Given the description of an element on the screen output the (x, y) to click on. 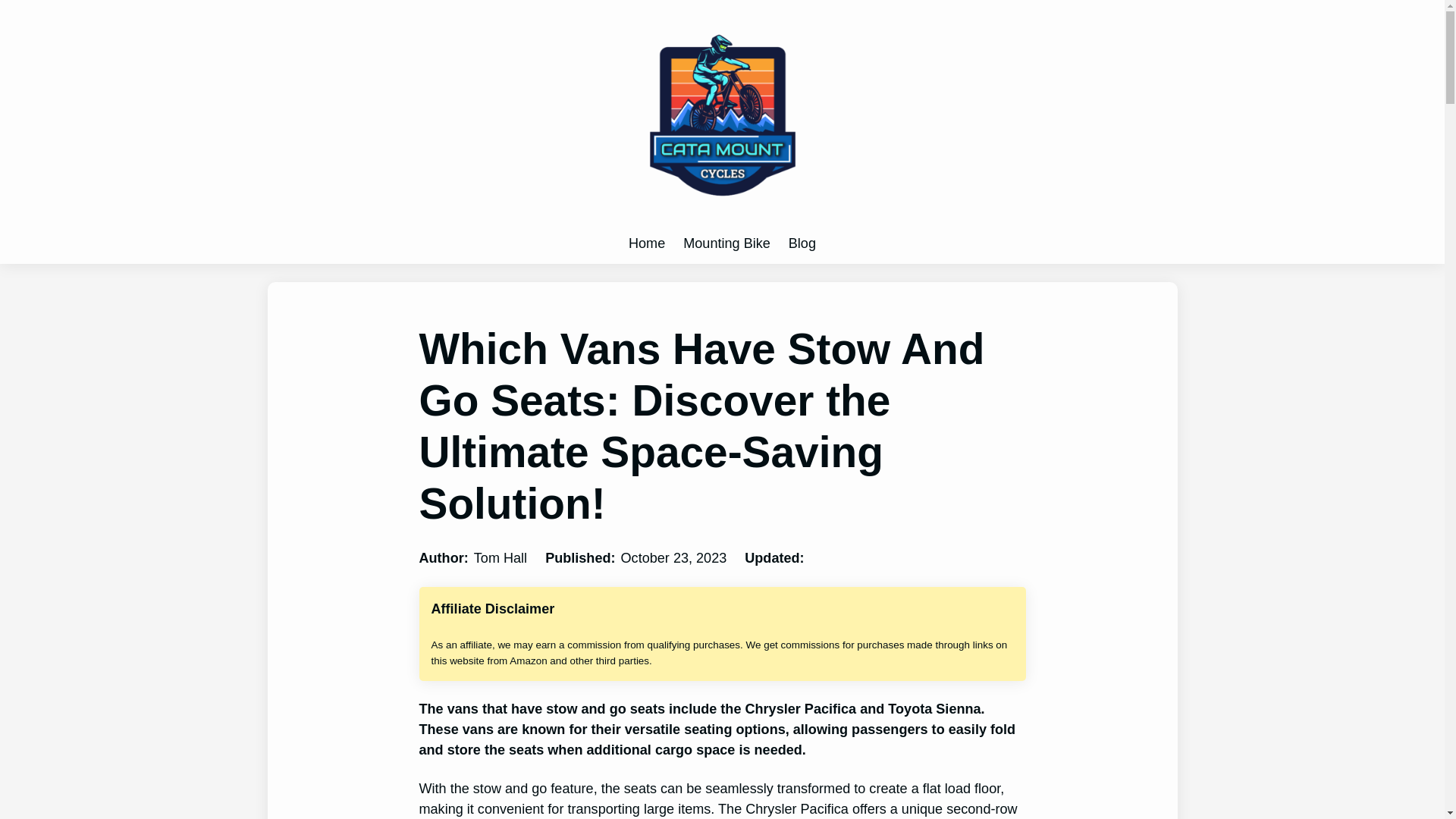
Blog (802, 243)
Home (646, 243)
Mounting Bike (726, 243)
